Given the description of an element on the screen output the (x, y) to click on. 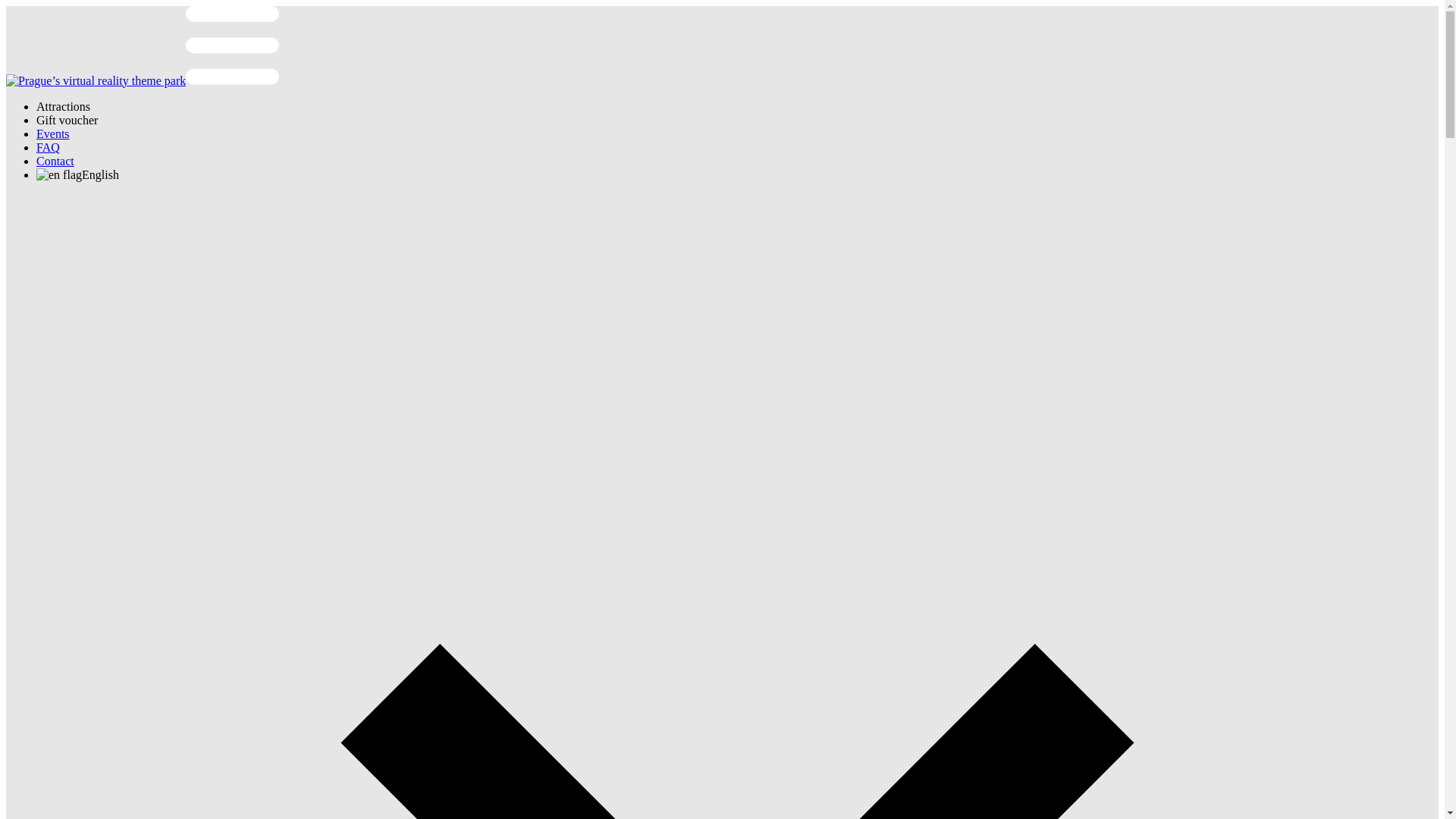
Attractions (63, 106)
FAQ (47, 146)
Contact (55, 160)
Events (52, 133)
Gift voucher (66, 119)
